Given the description of an element on the screen output the (x, y) to click on. 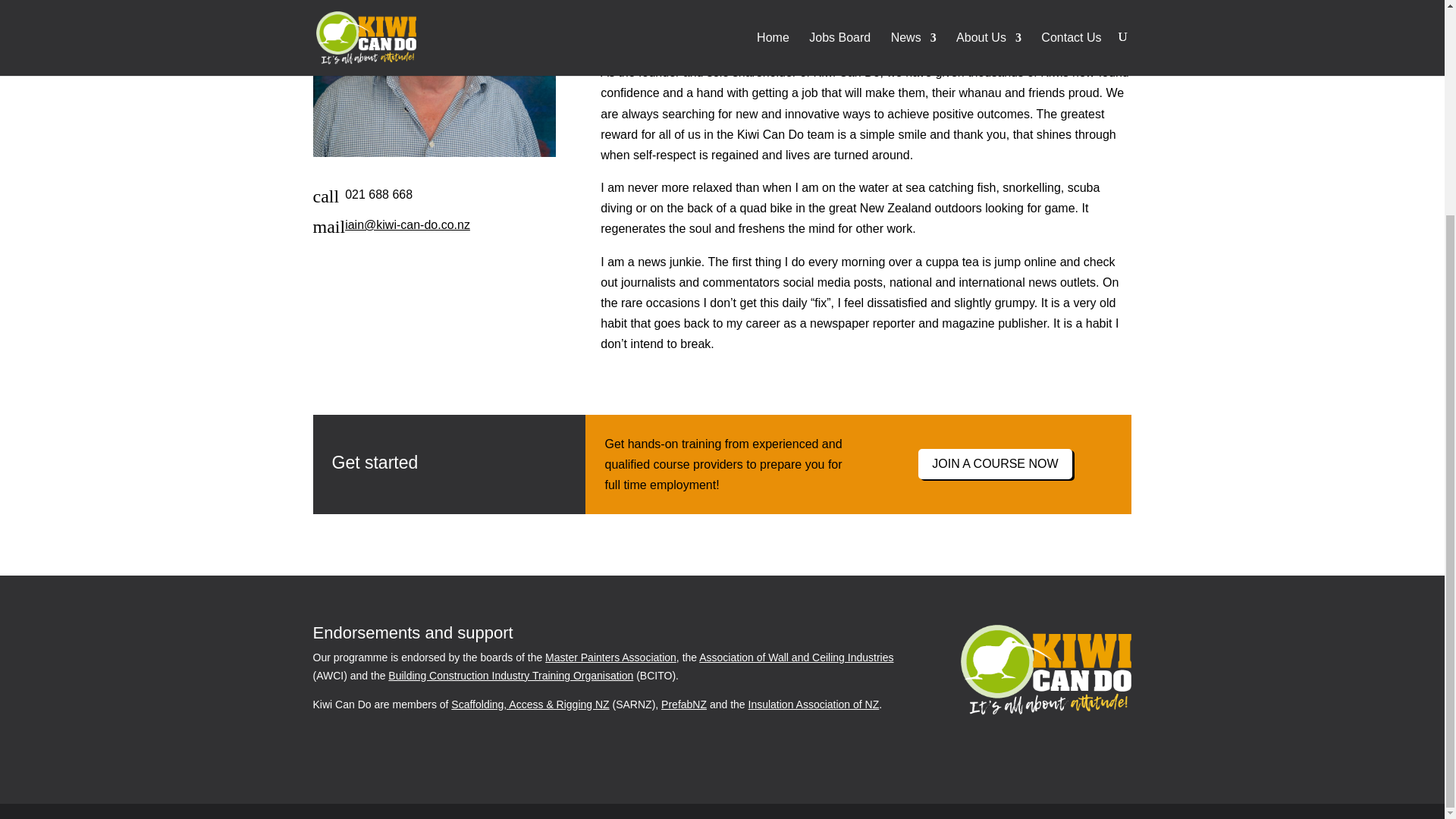
Association of Wall and Ceiling Industries (795, 657)
Master Painters Association (610, 657)
Building Construction Industry Training Organisation (510, 675)
PrefabNZ (683, 704)
JOIN A COURSE NOW (994, 463)
021 688 668 (378, 194)
Insulation Association of NZ (813, 704)
